Given the description of an element on the screen output the (x, y) to click on. 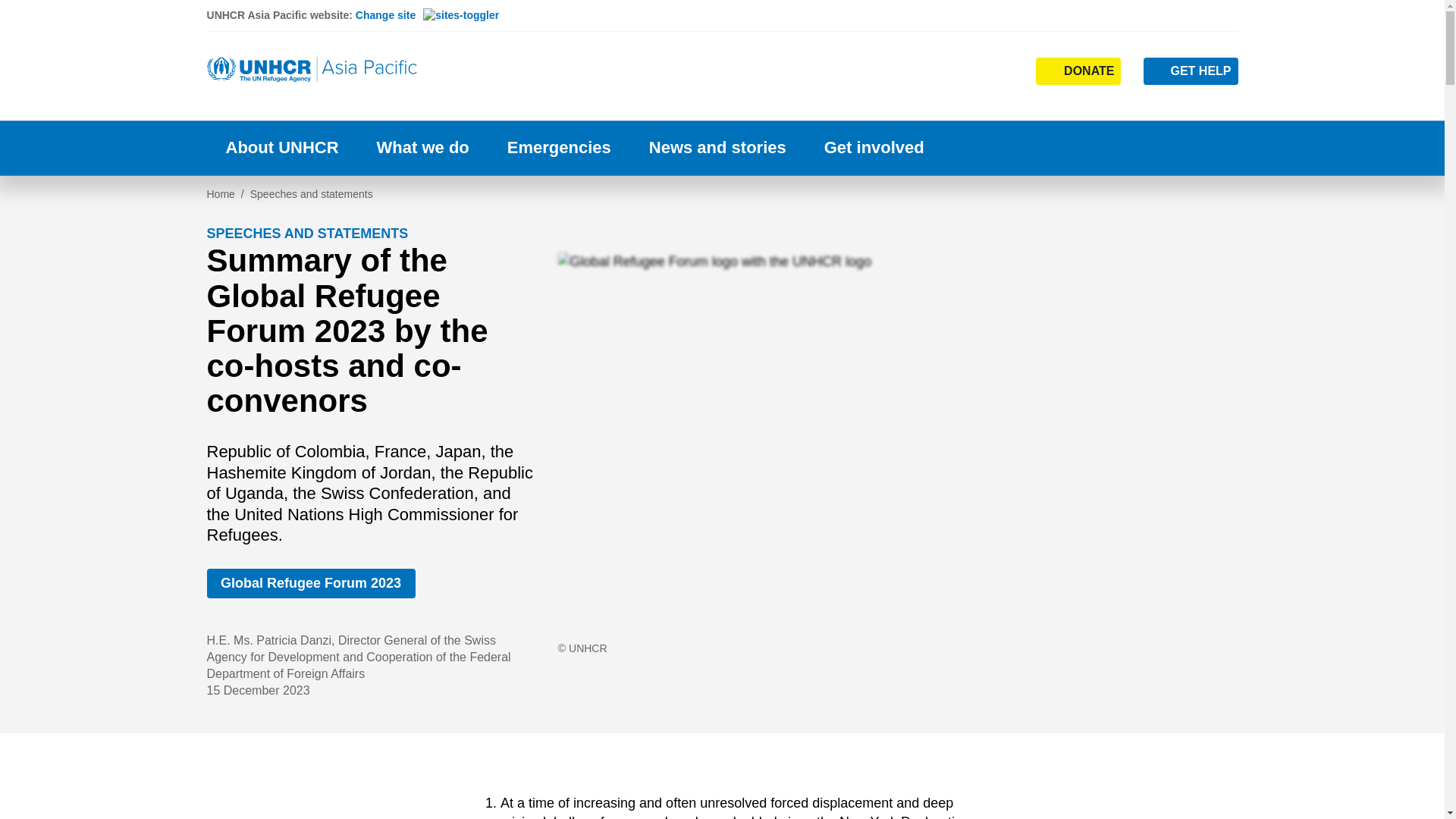
GET HELP (1189, 71)
DONATE (1078, 71)
Search (954, 99)
Search (952, 69)
Change site (427, 15)
Home (312, 69)
Skip to main content (721, 1)
Sites (1000, 69)
About UNHCR (281, 148)
